Given the description of an element on the screen output the (x, y) to click on. 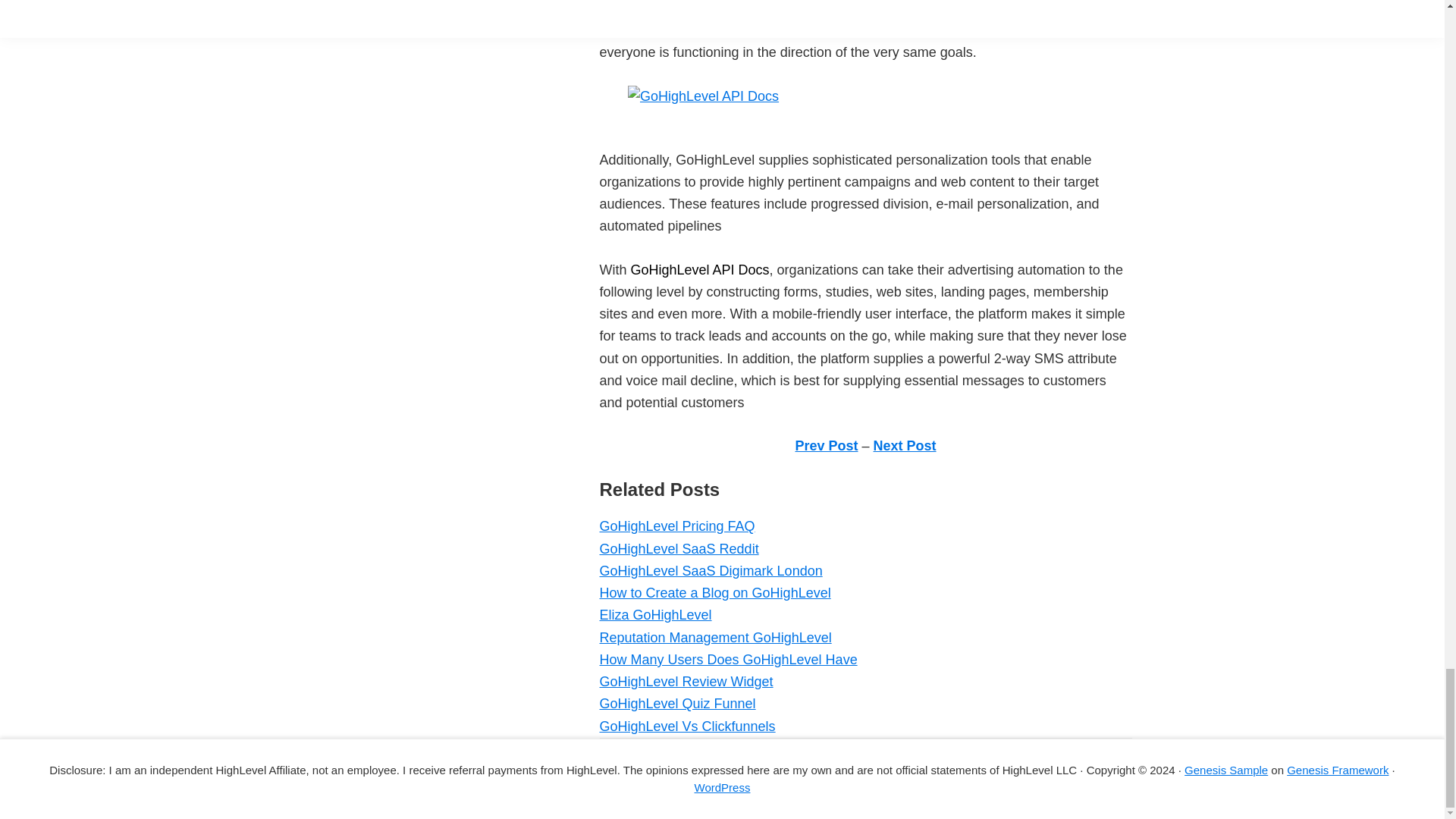
Eliza GoHighLevel (654, 614)
Reputation Management GoHighLevel (714, 637)
GoHighLevel Vs Clickfunnels (686, 726)
GoHighLevel Quiz Funnel (676, 703)
How Many Users Does GoHighLevel Have (727, 659)
GoHighLevel Pricing FAQ (676, 525)
GoHighLevel Quiz Funnel (676, 703)
GoHighLevel SaaS Digimark London (710, 570)
GoHighLevel SaaS Digimark London (710, 570)
GoHighLevel Review Widget (685, 681)
